Given the description of an element on the screen output the (x, y) to click on. 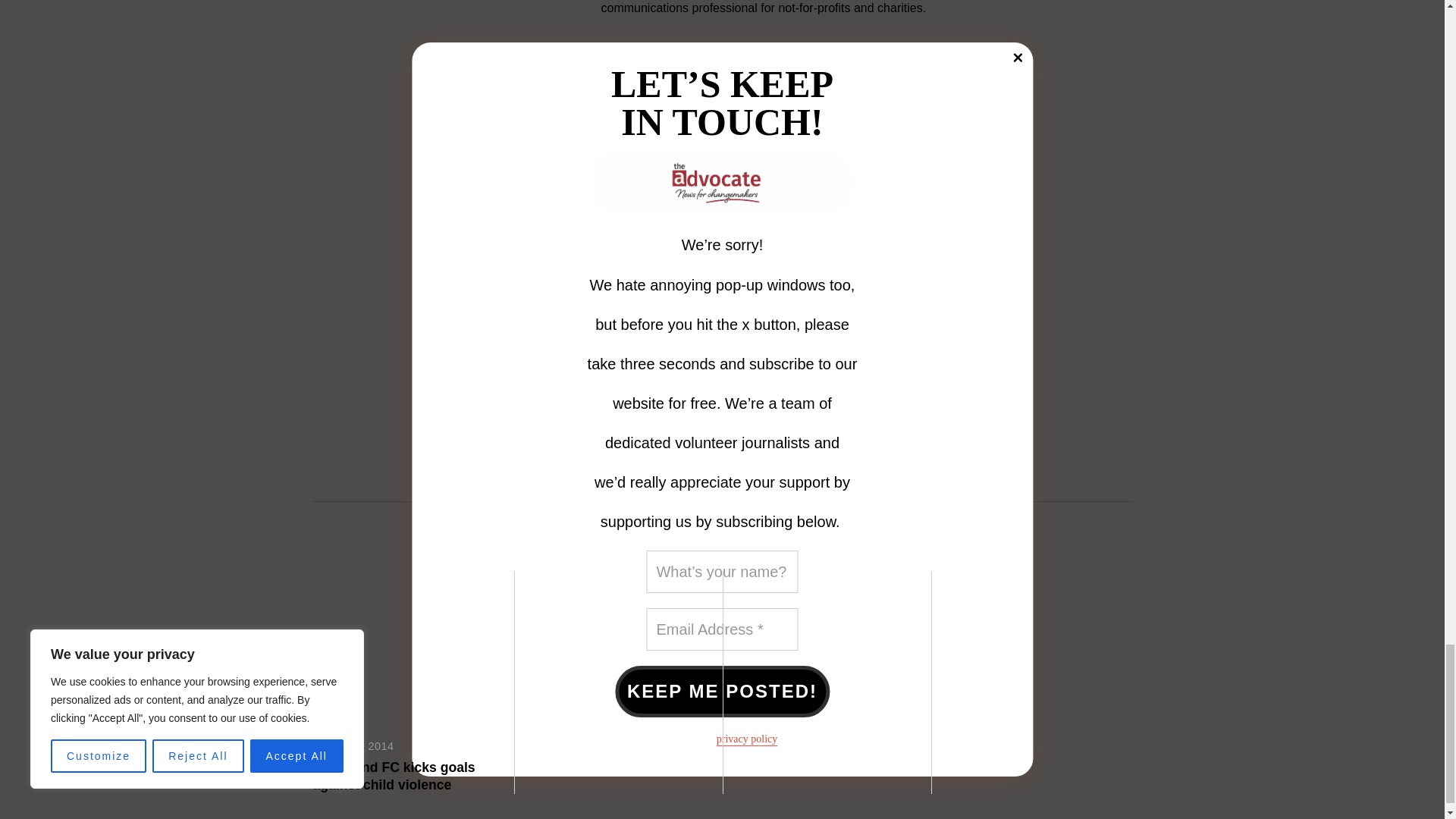
Post Comment (549, 417)
yes (476, 380)
Post Comment (549, 417)
